Given the description of an element on the screen output the (x, y) to click on. 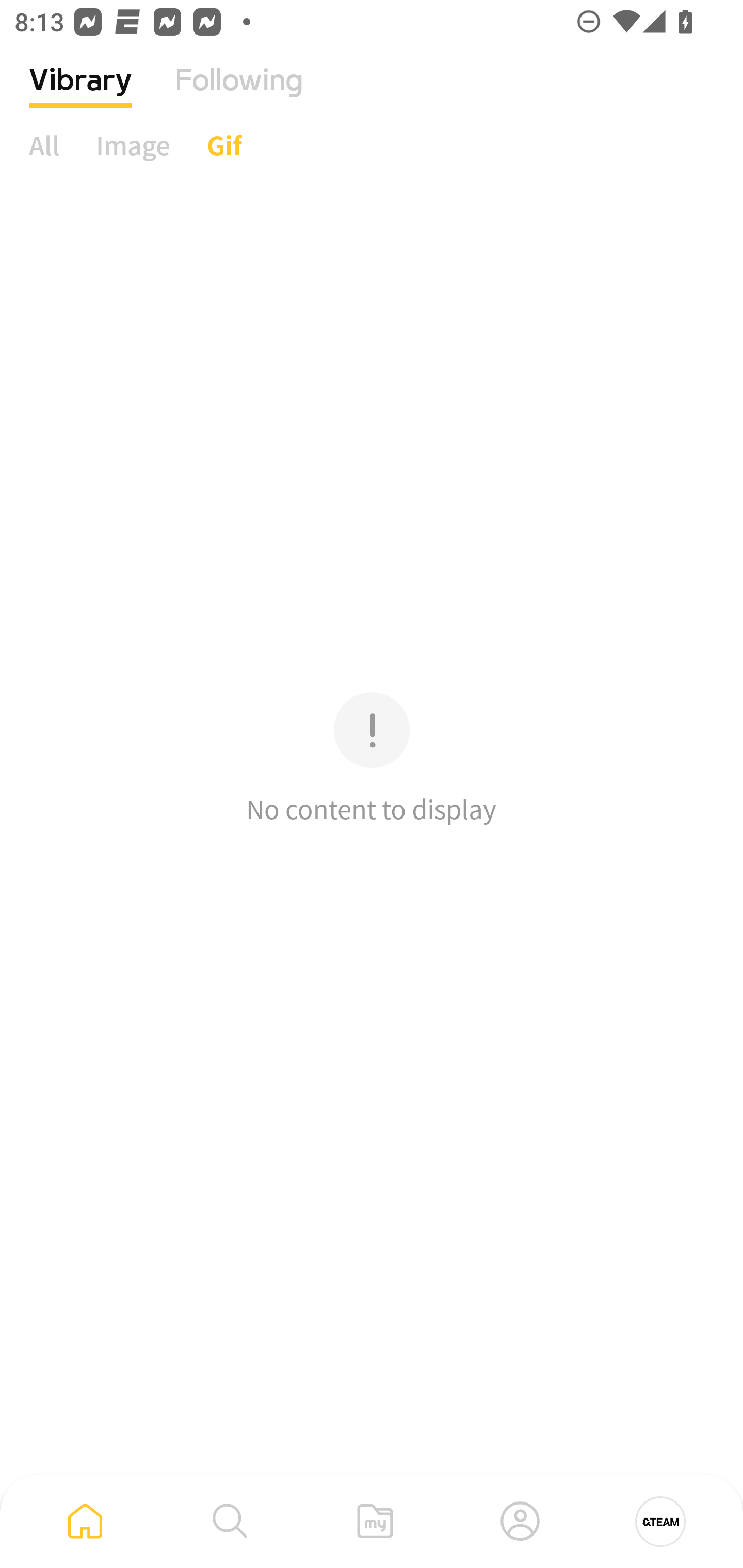
Vibrary (80, 95)
Following (239, 95)
All (44, 145)
Image (132, 145)
Gif (224, 145)
